Given the description of an element on the screen output the (x, y) to click on. 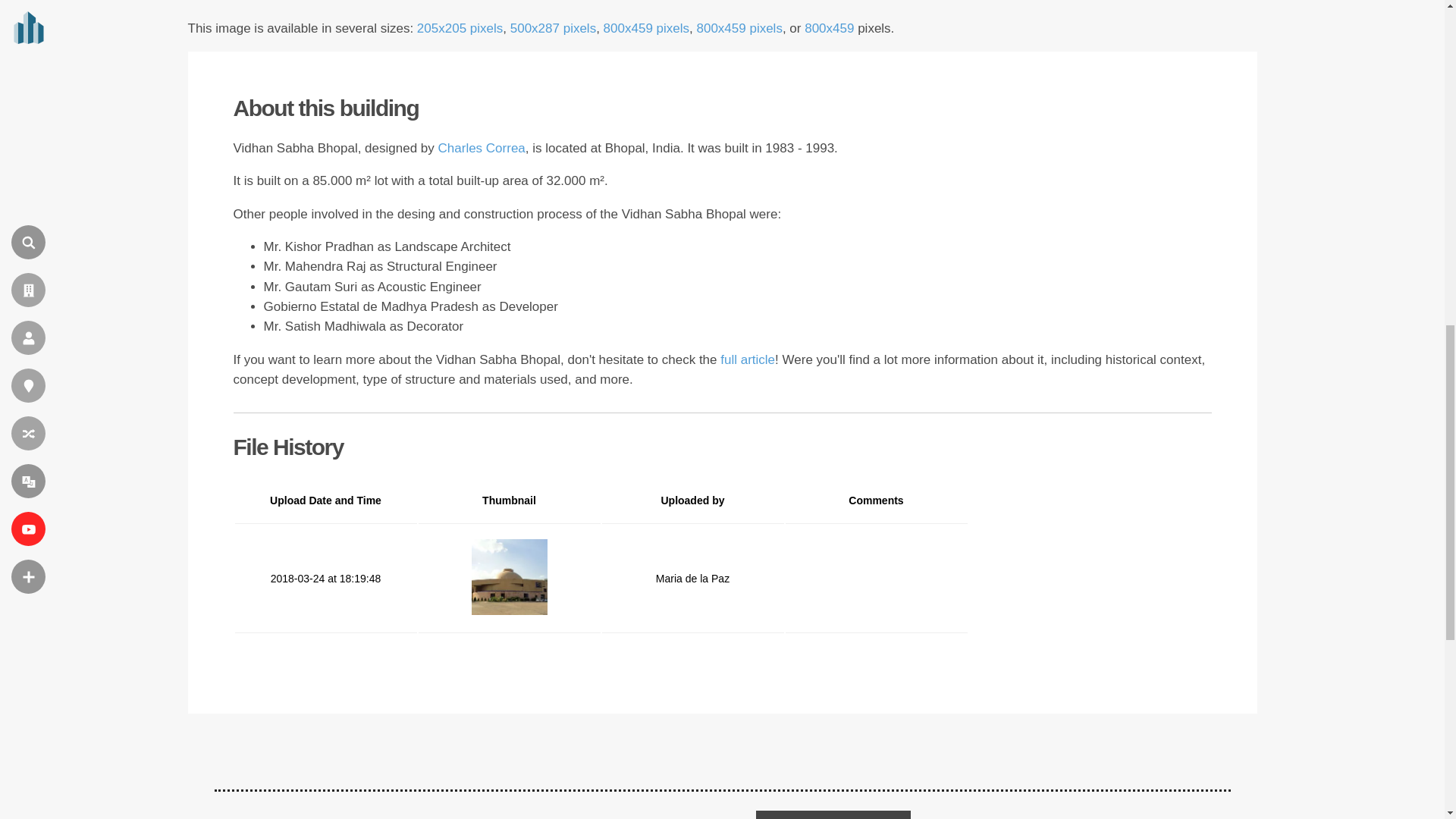
Charles Correa (481, 147)
500x287 pixels (553, 28)
205x205 pixels (459, 28)
800x459 pixels (738, 28)
800x459 (829, 28)
SIGN ME UP! (833, 814)
full article (747, 359)
800x459 pixels (646, 28)
